Given the description of an element on the screen output the (x, y) to click on. 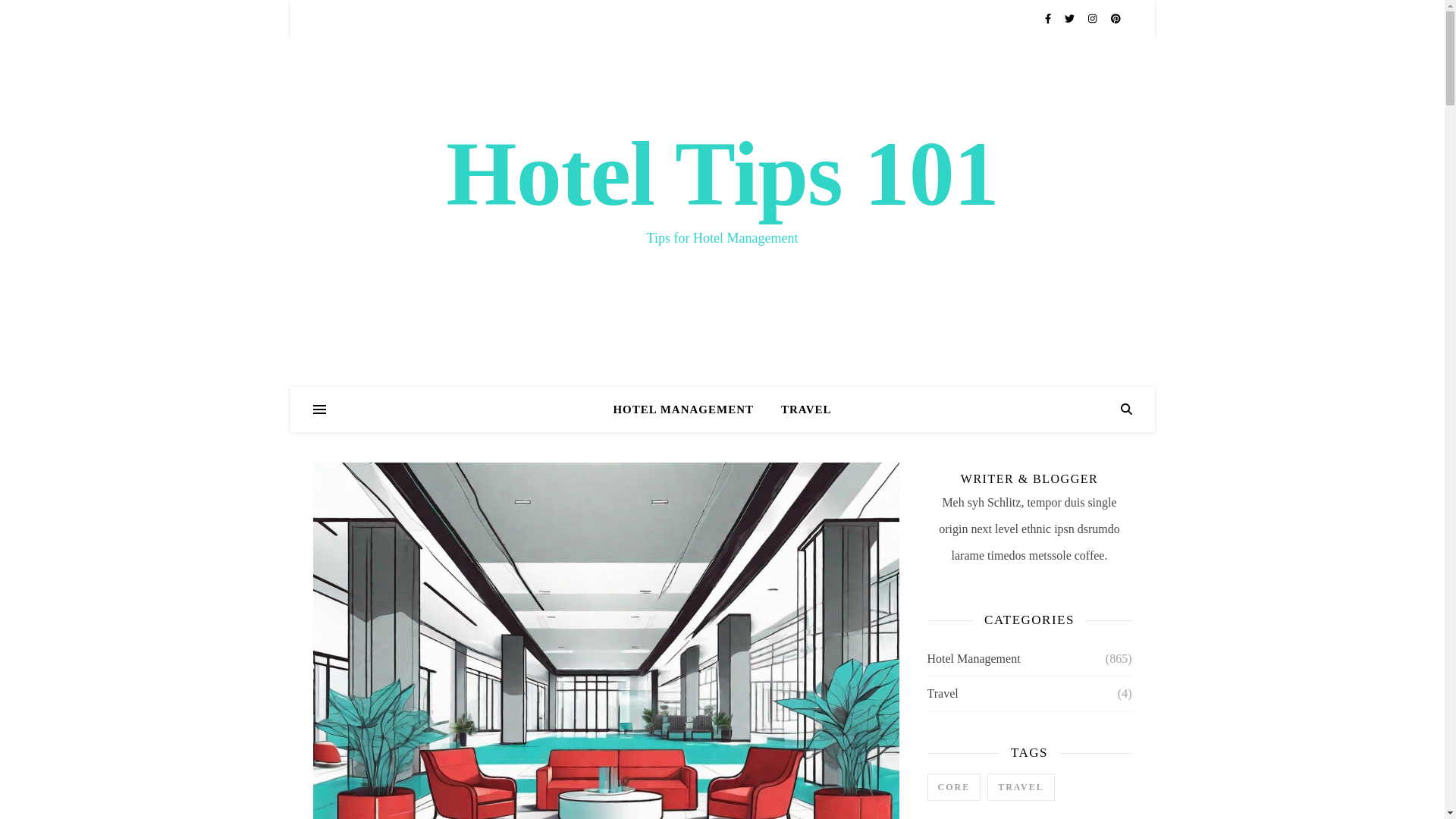
HOTEL MANAGEMENT (688, 409)
TRAVEL (799, 409)
Hotel Tips 101 (721, 174)
